Given the description of an element on the screen output the (x, y) to click on. 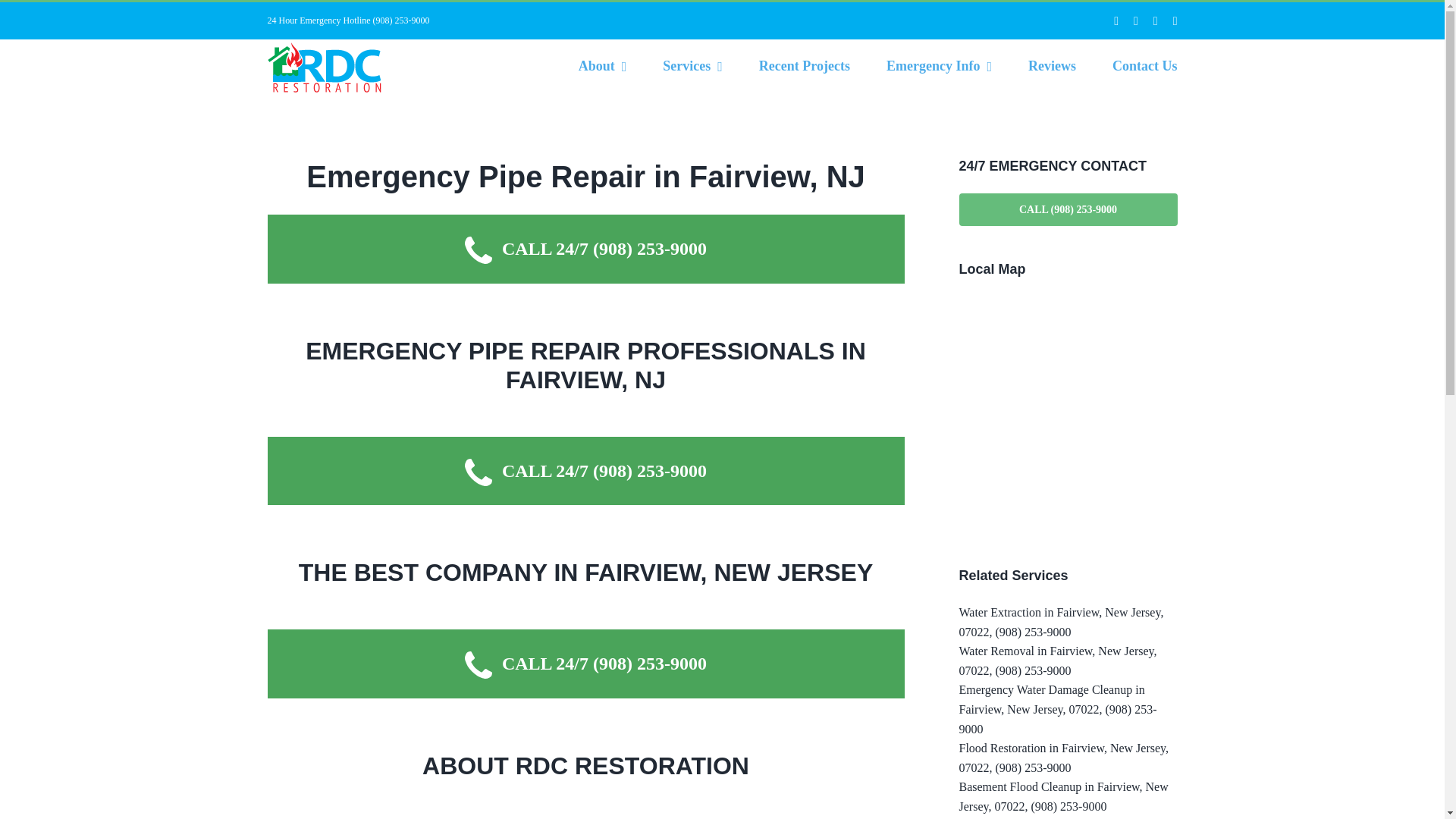
Recent Projects (804, 65)
Services (692, 65)
Contact Us (1144, 65)
Emergency Info (938, 65)
Reviews (1051, 65)
About (602, 65)
